Given the description of an element on the screen output the (x, y) to click on. 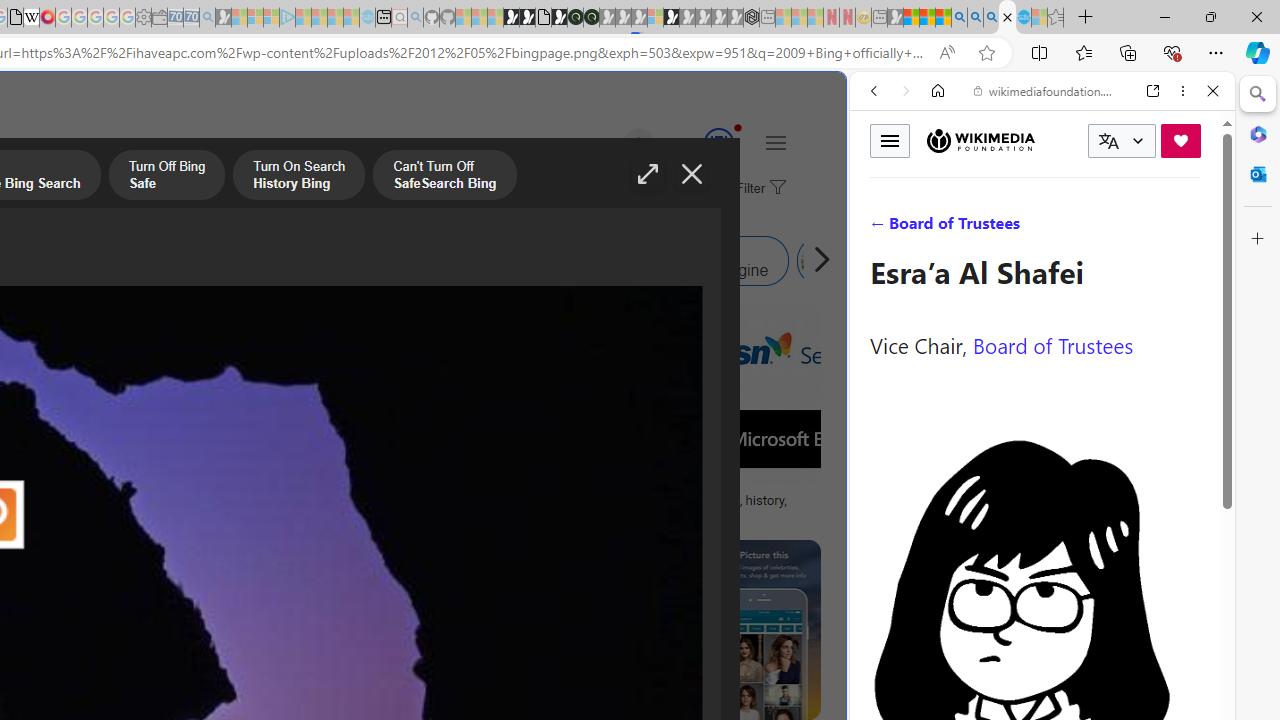
SEARCH TOOLS (1093, 228)
wikimediafoundation.org (1045, 90)
Turn On Search History Bing (299, 177)
Filter (758, 189)
Owner of Bing Search Engine (680, 260)
IMAGES (939, 228)
